Given the description of an element on the screen output the (x, y) to click on. 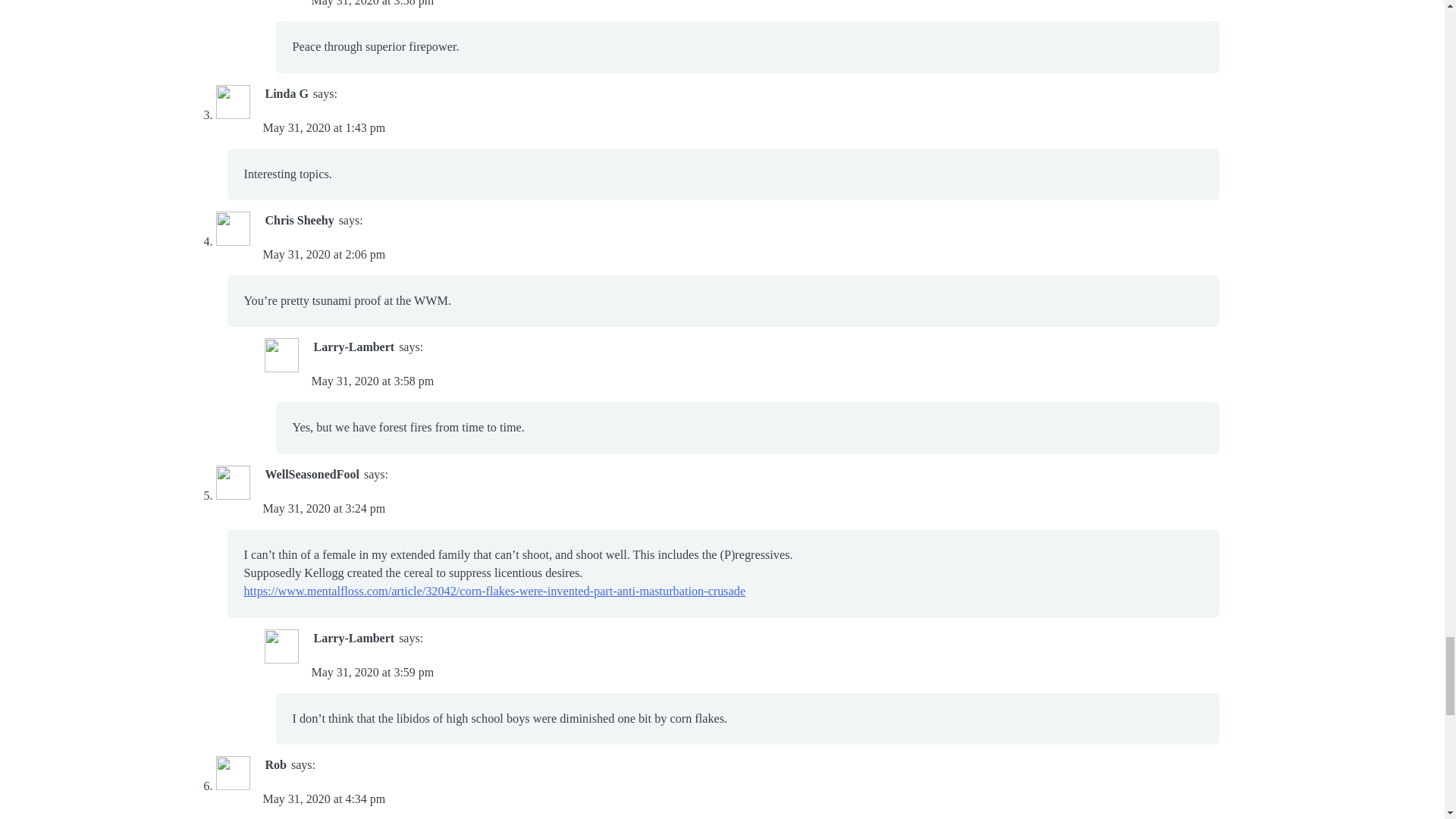
May 31, 2020 at 3:58 pm (372, 380)
May 31, 2020 at 3:58 pm (372, 3)
May 31, 2020 at 1:43 pm (323, 127)
WellSeasonedFool (311, 473)
Linda G (286, 92)
May 31, 2020 at 3:24 pm (323, 508)
May 31, 2020 at 3:59 pm (372, 671)
May 31, 2020 at 4:34 pm (323, 798)
May 31, 2020 at 2:06 pm (323, 254)
